Given the description of an element on the screen output the (x, y) to click on. 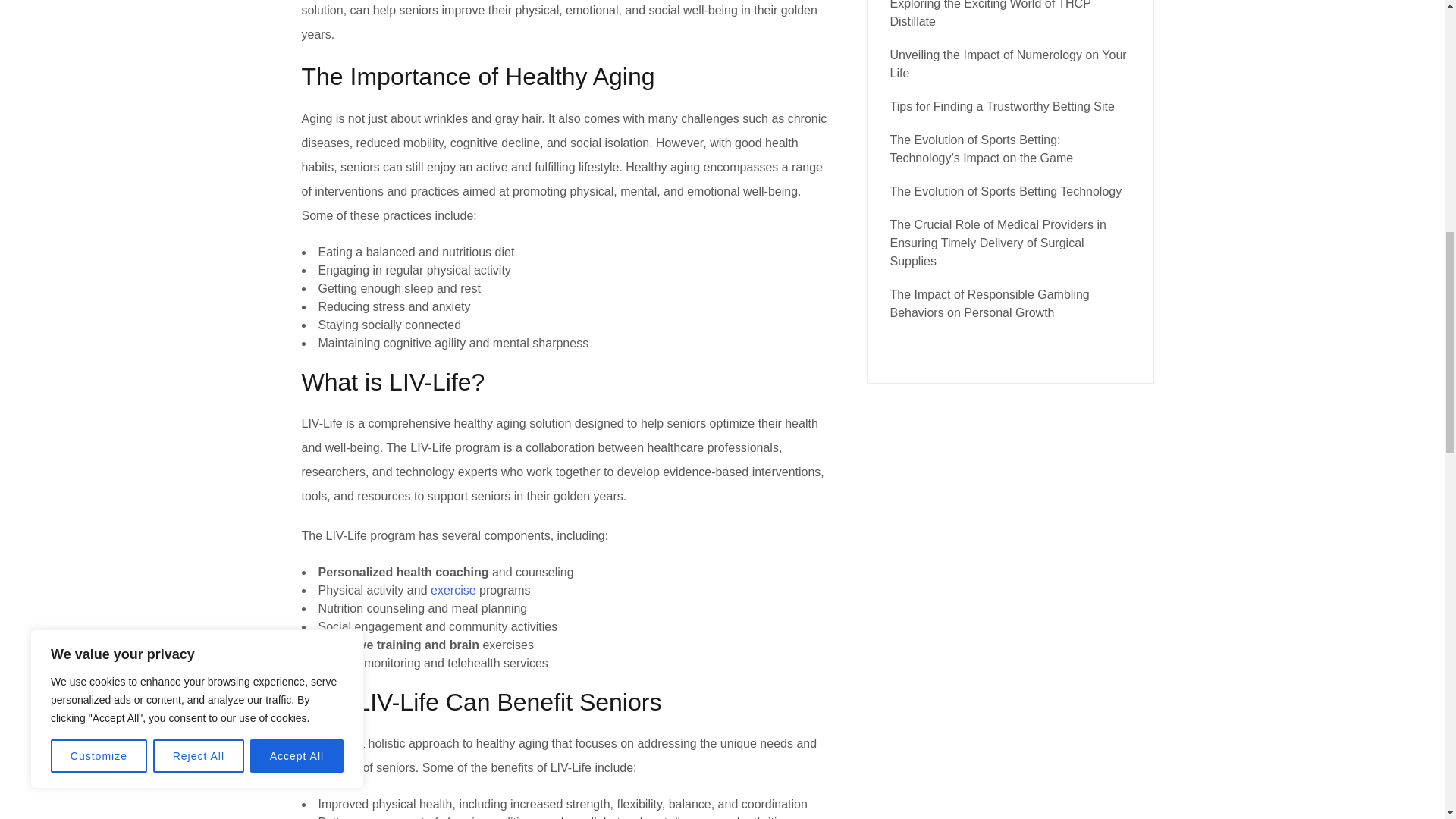
exercise (453, 590)
